Given the description of an element on the screen output the (x, y) to click on. 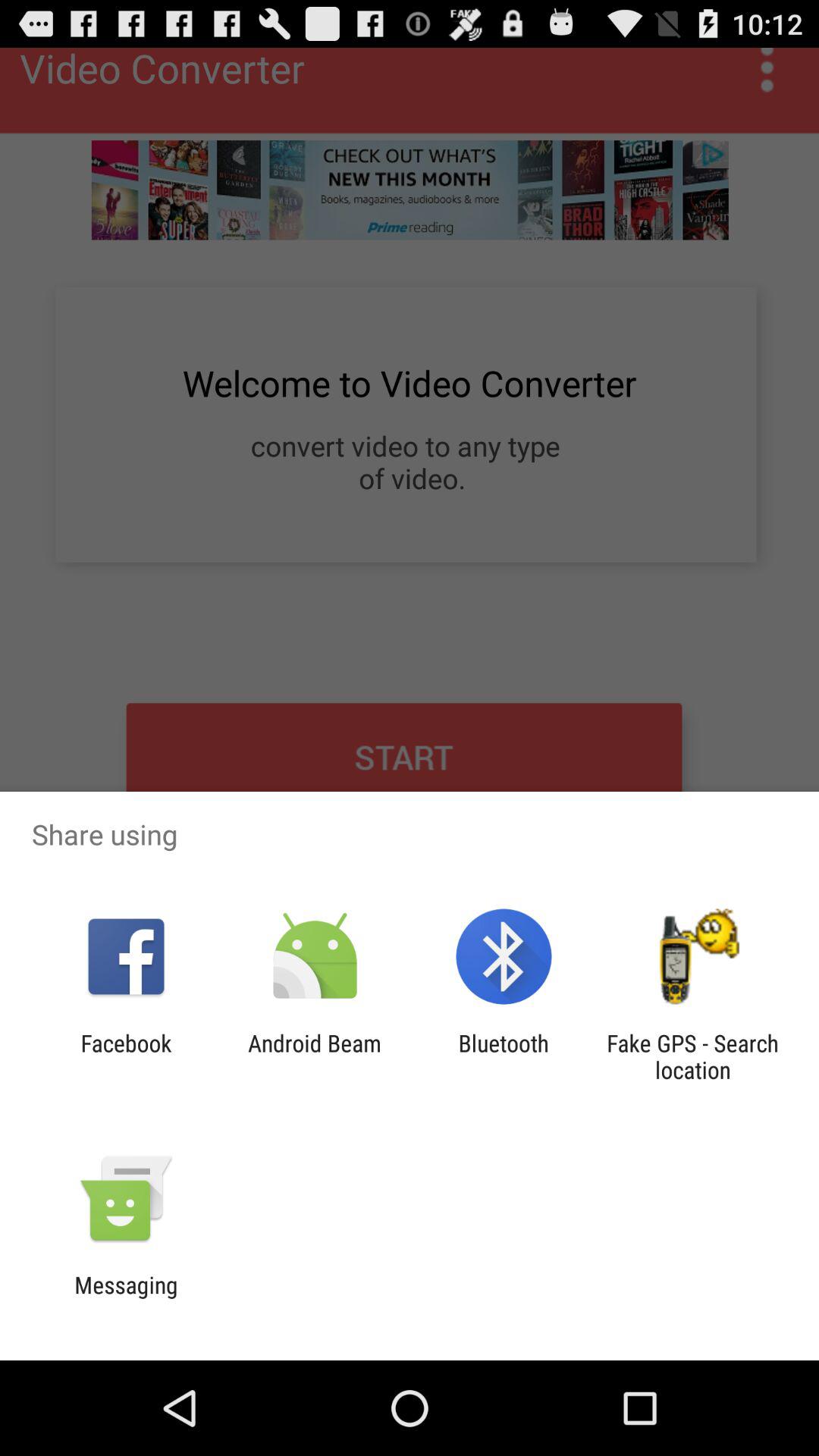
click the messaging app (126, 1298)
